Given the description of an element on the screen output the (x, y) to click on. 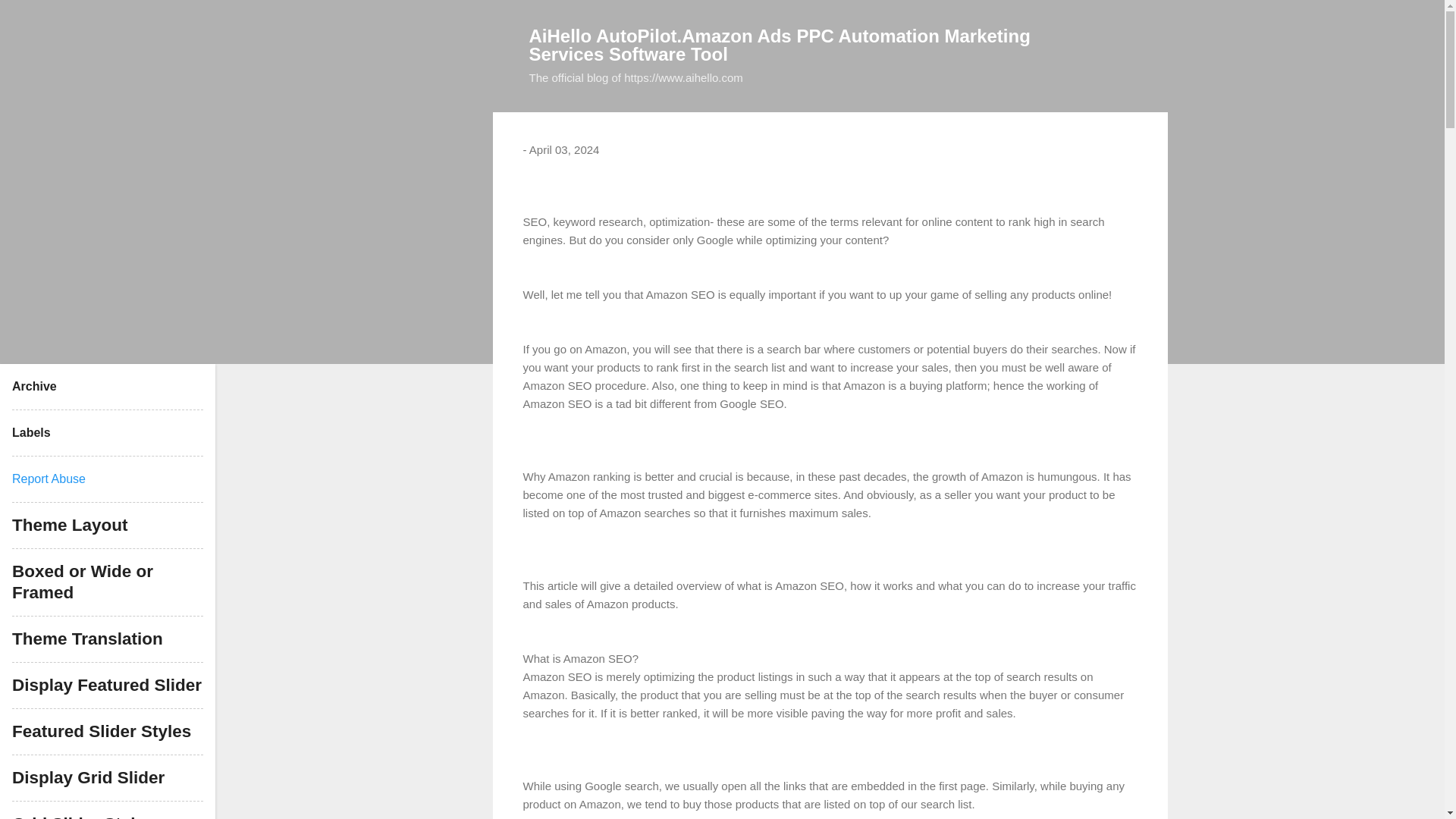
April 03, 2024 (564, 149)
permanent link (564, 149)
Search (29, 18)
